Given the description of an element on the screen output the (x, y) to click on. 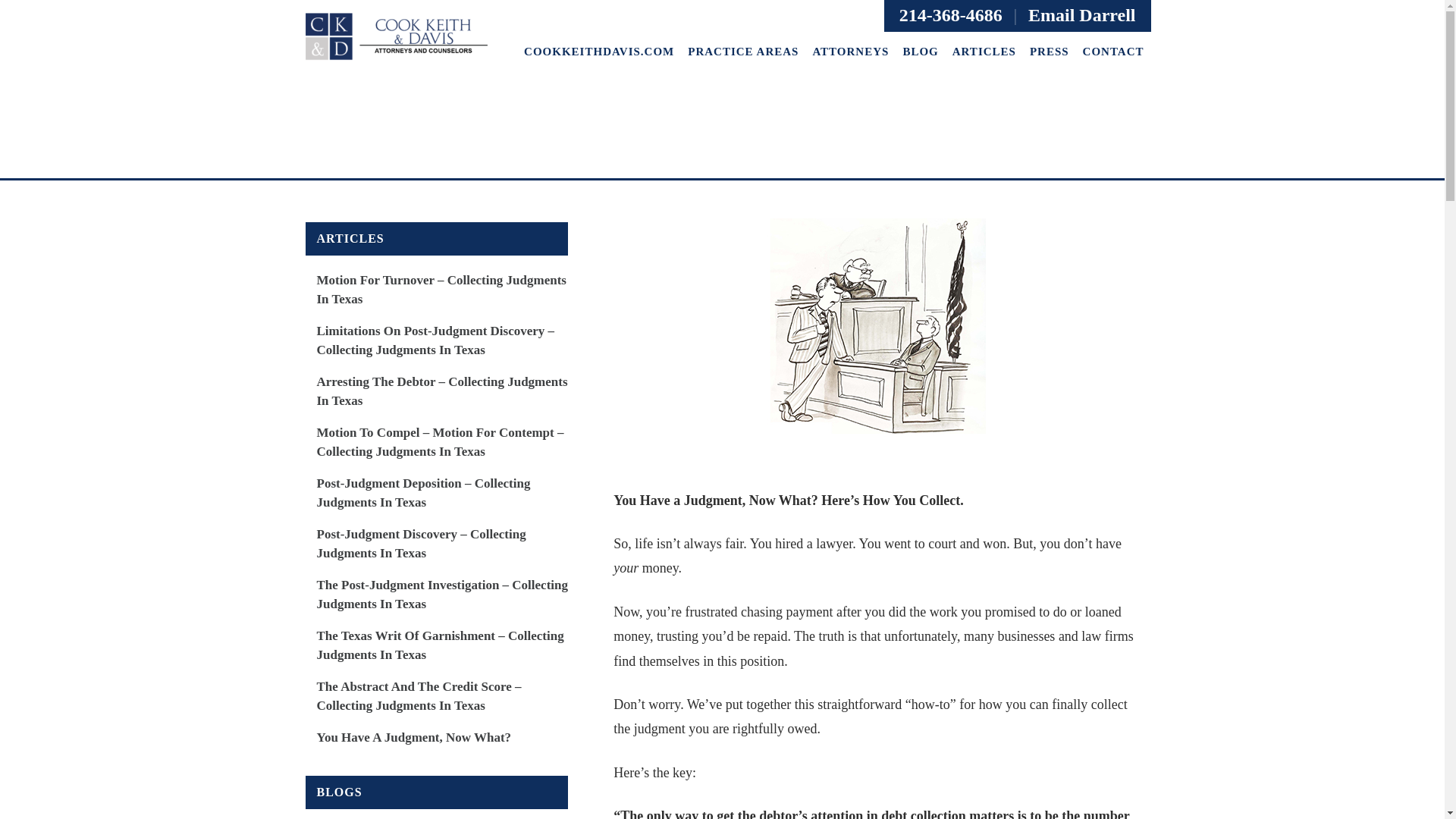
Email Darrell (1081, 14)
CONTACT (1113, 51)
COOKKEITHDAVIS.COM (598, 51)
BLOG (919, 51)
ATTORNEYS (850, 51)
ARTICLES (983, 51)
PRESS (1049, 51)
PRACTICE AREAS (743, 51)
